Given the description of an element on the screen output the (x, y) to click on. 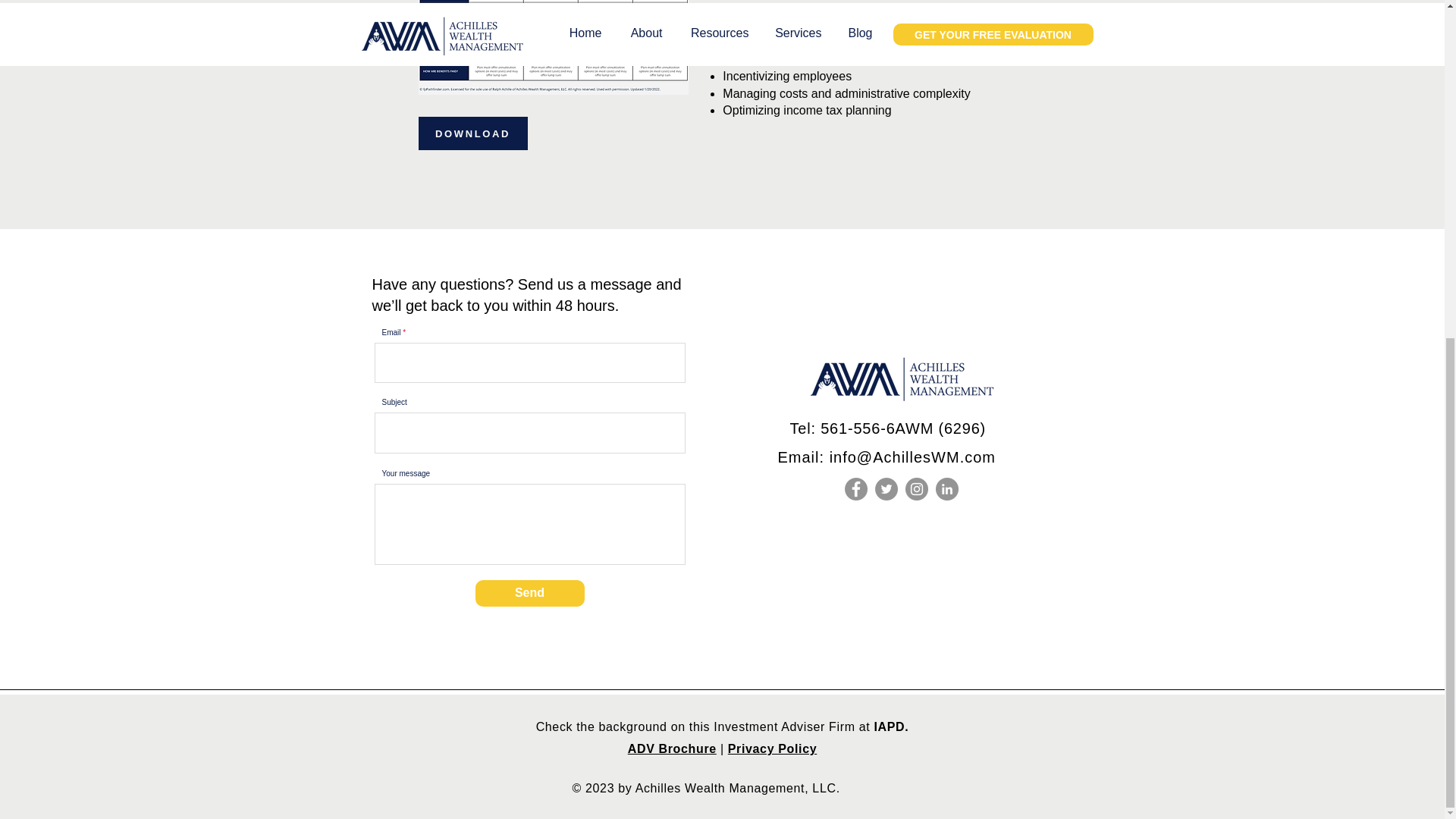
Send (528, 592)
DOWNLOAD (473, 133)
ADV Brochure (671, 748)
 IAPD. (888, 726)
